Given the description of an element on the screen output the (x, y) to click on. 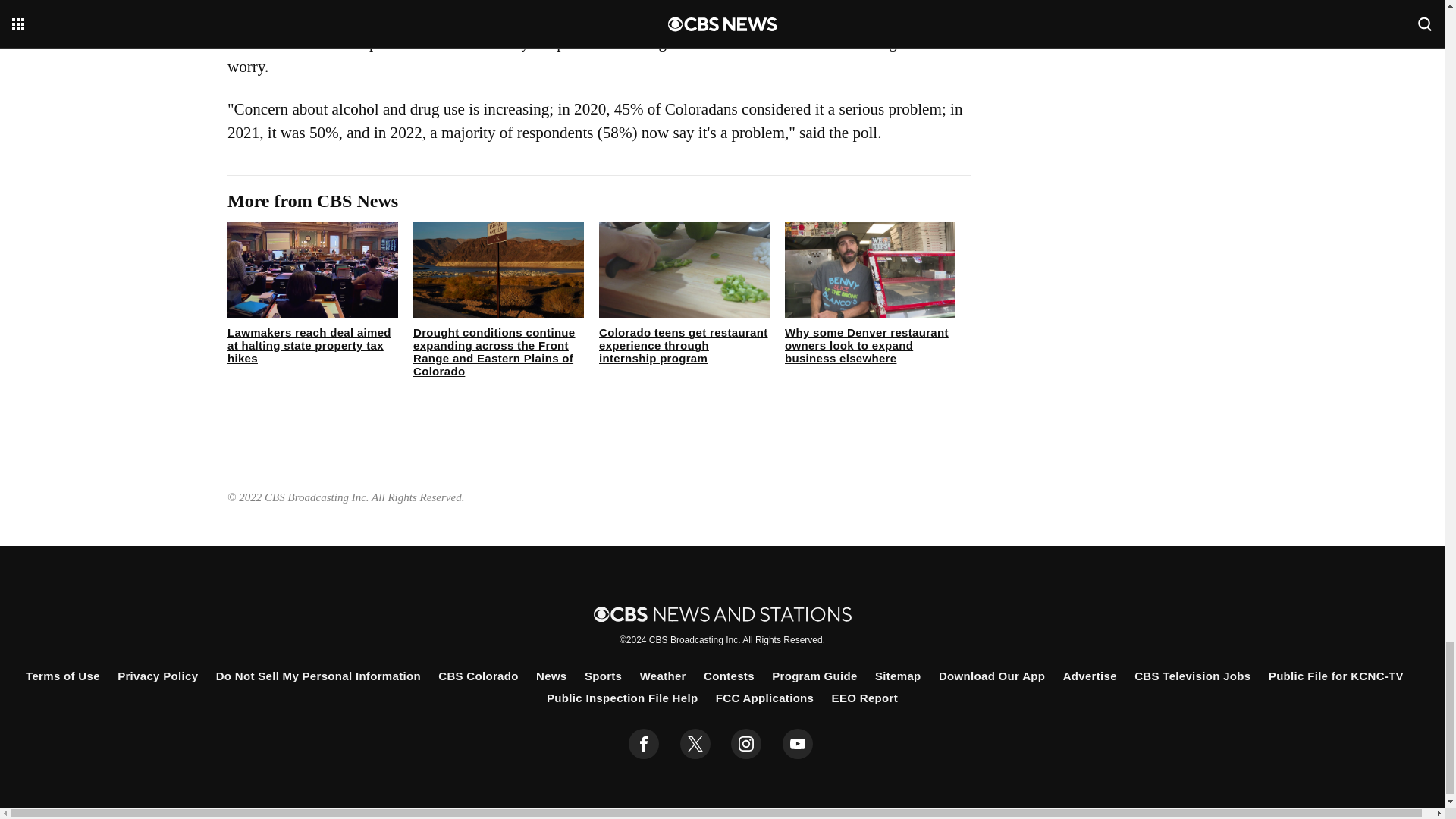
twitter (694, 743)
facebook (643, 743)
instagram (745, 743)
youtube (797, 743)
